Given the description of an element on the screen output the (x, y) to click on. 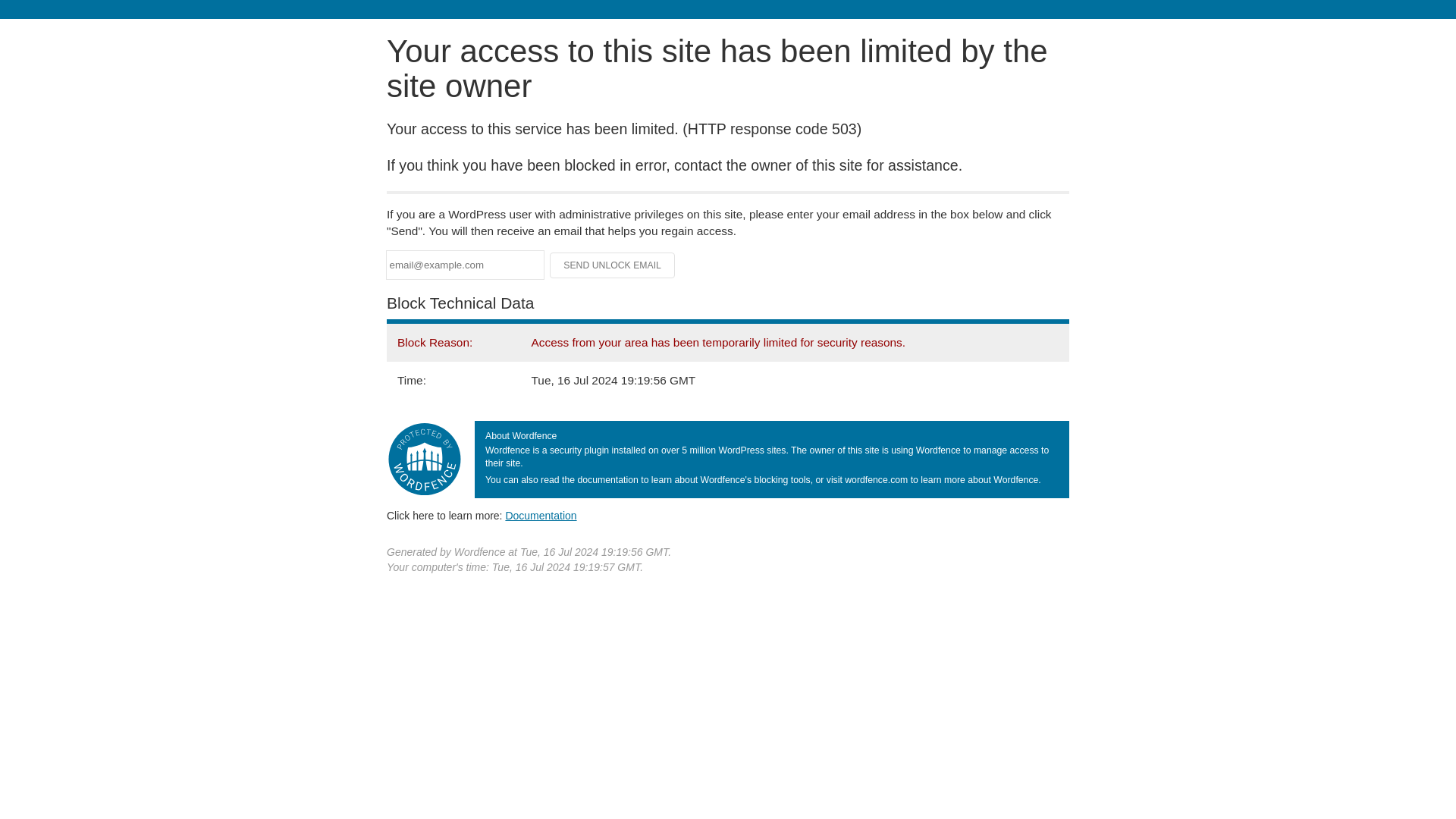
Send Unlock Email (612, 265)
Send Unlock Email (612, 265)
Documentation (540, 515)
